Given the description of an element on the screen output the (x, y) to click on. 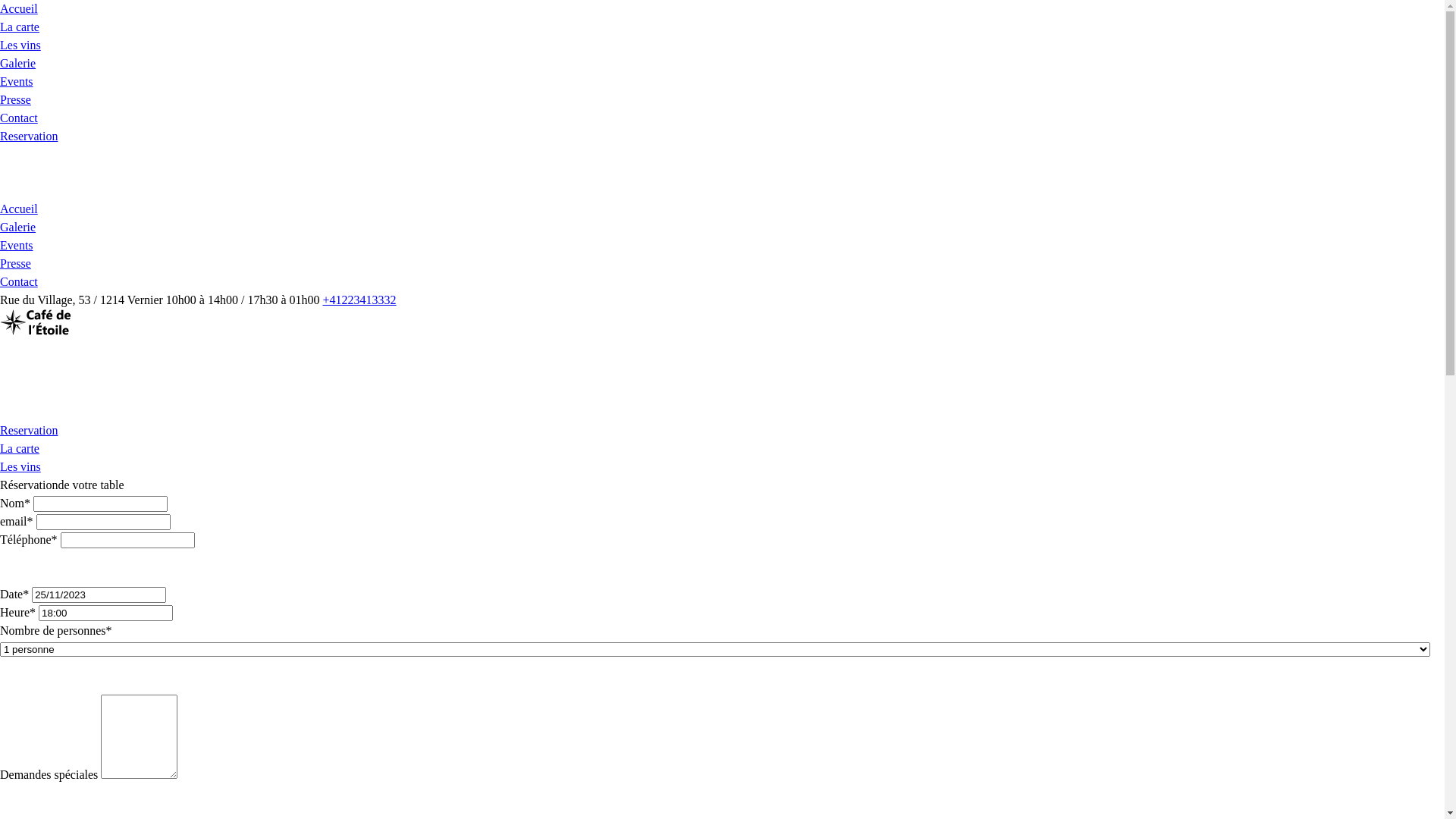
Reservation Element type: text (28, 429)
+41223413332 Element type: text (359, 299)
Presse Element type: text (15, 263)
Reservation Element type: text (28, 135)
Presse Element type: text (15, 99)
Galerie Element type: text (17, 226)
Les vins Element type: text (20, 466)
Accueil Element type: text (18, 8)
Contact Element type: text (18, 281)
Galerie Element type: text (17, 62)
Contact Element type: text (18, 117)
Les vins Element type: text (20, 44)
Events Element type: text (16, 244)
Accueil Element type: text (18, 208)
La carte Element type: text (19, 448)
La carte Element type: text (19, 26)
Events Element type: text (16, 81)
